Given the description of an element on the screen output the (x, y) to click on. 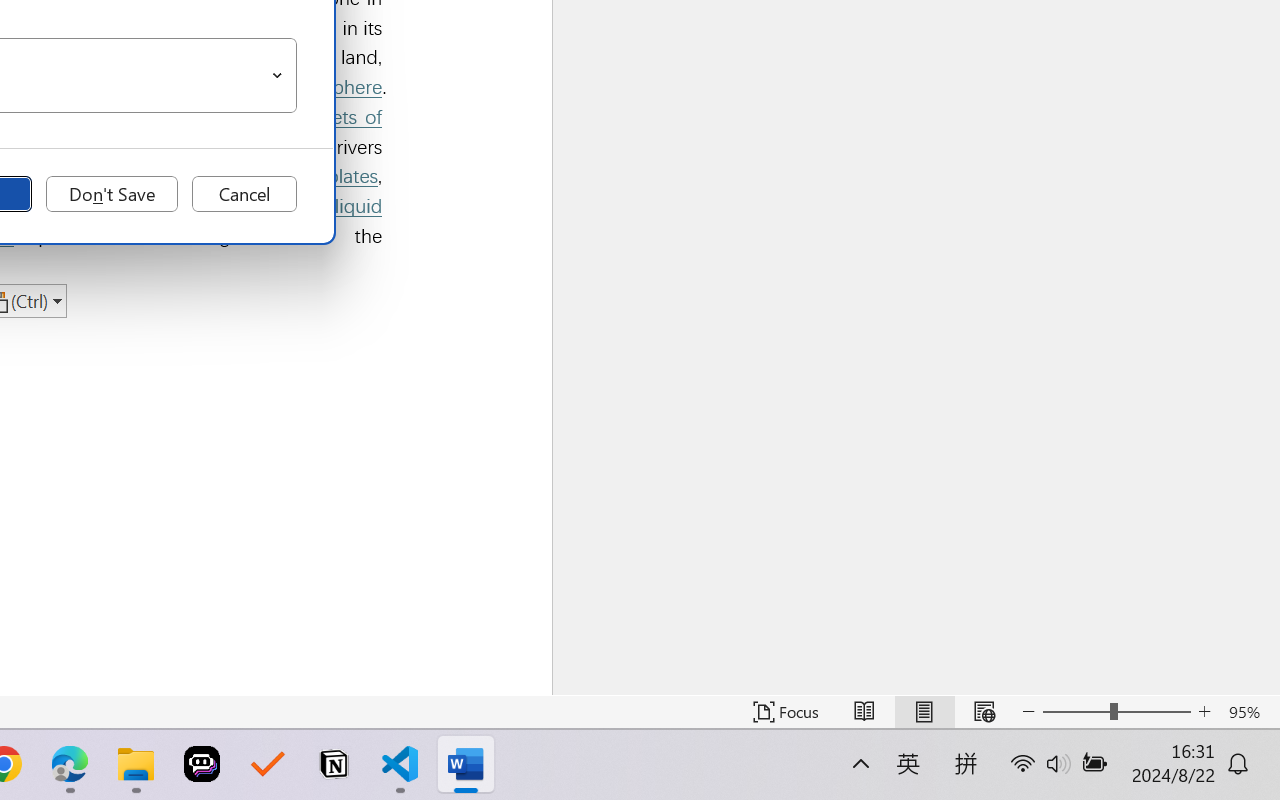
Poe (201, 764)
Don't Save (111, 194)
Notion (333, 764)
Cancel (244, 194)
